Given the description of an element on the screen output the (x, y) to click on. 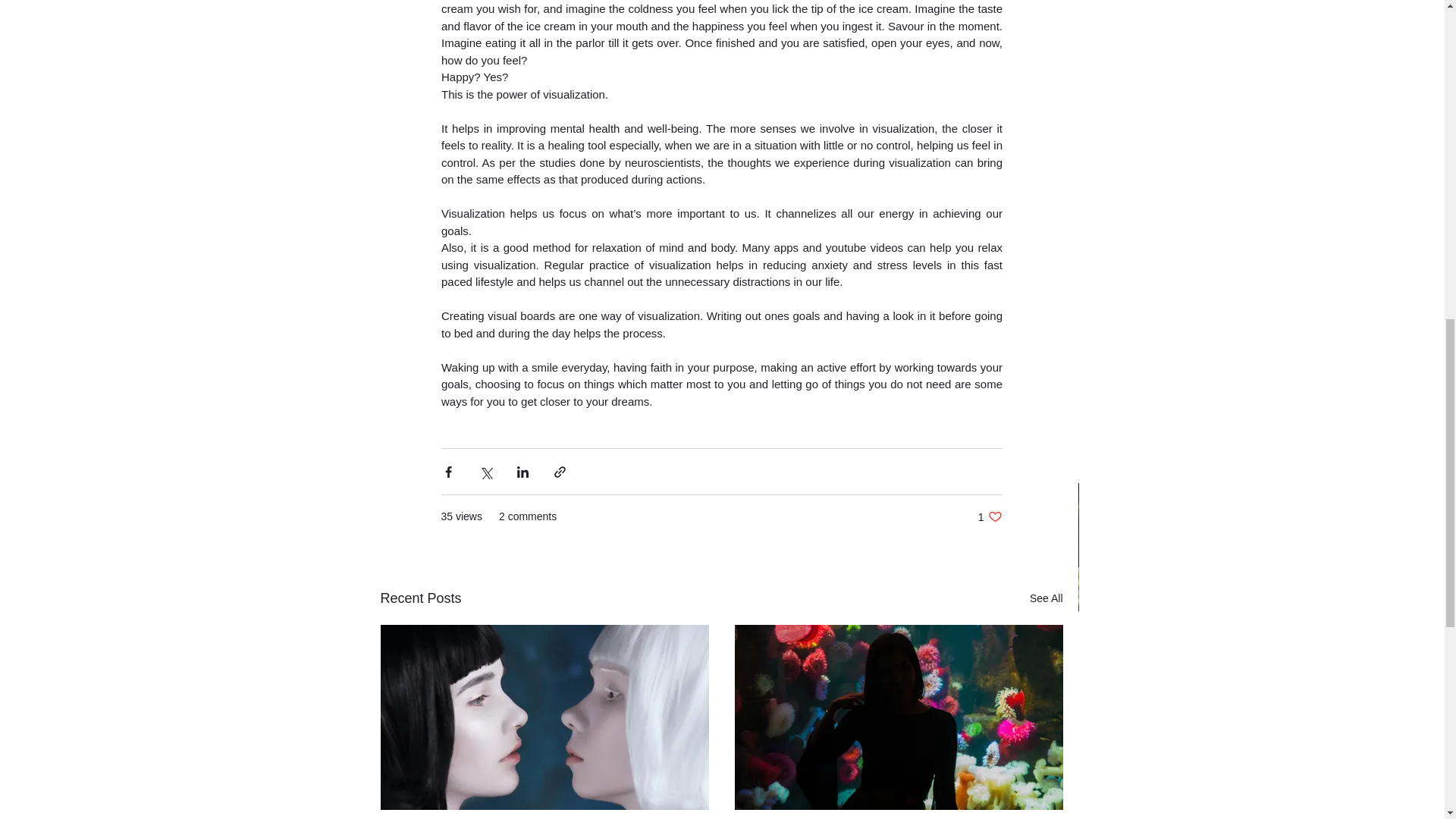
See All (1045, 598)
Self-respect or ego, know the difference? (990, 516)
